Given the description of an element on the screen output the (x, y) to click on. 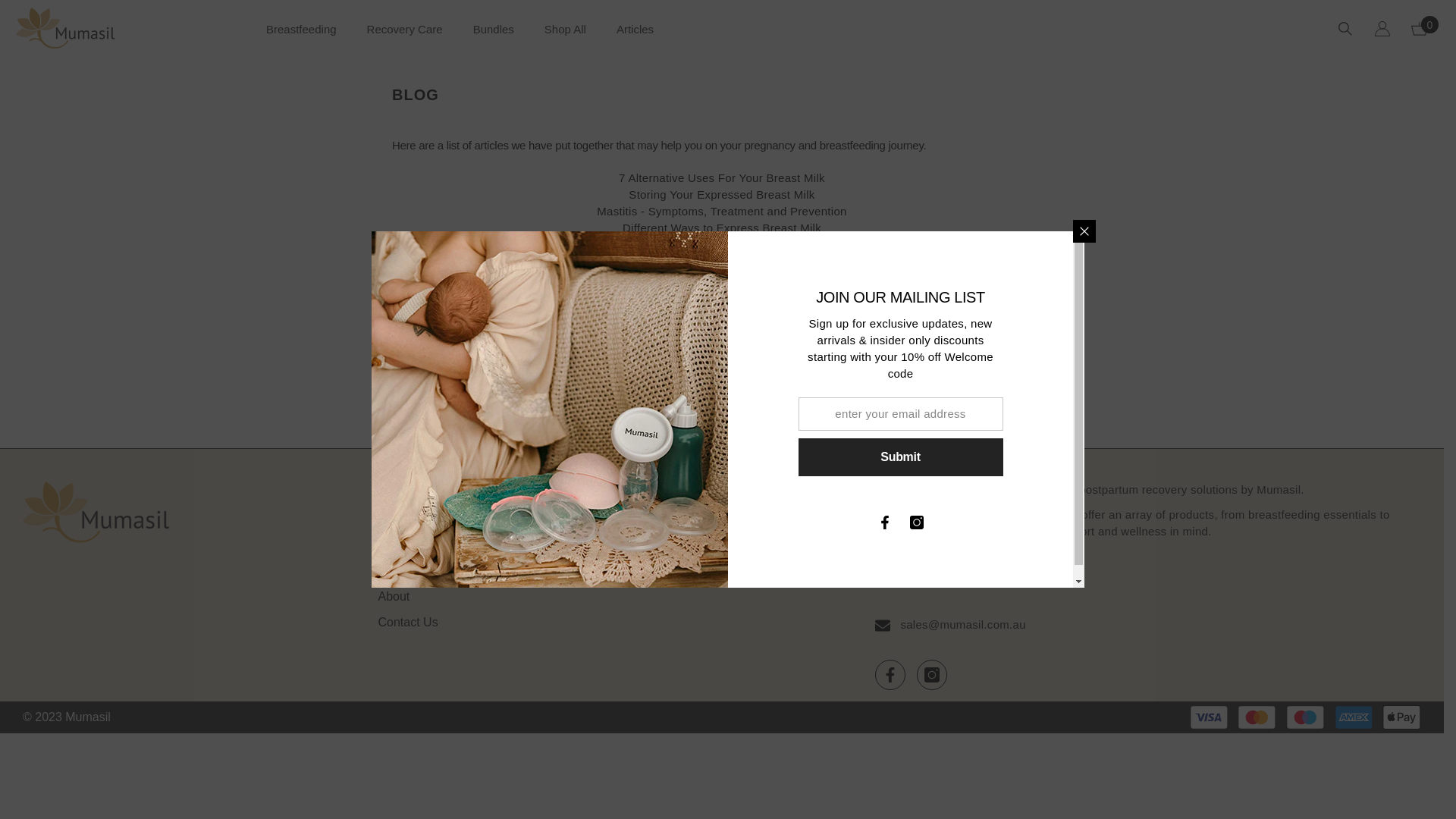
Breastfeeding Element type: text (301, 39)
About Element type: text (393, 596)
Instagram Element type: text (931, 674)
Recovery Care Element type: text (404, 39)
Wholesale Element type: text (405, 570)
Facebook Element type: text (890, 674)
Bundles Element type: text (493, 39)
Terms Of Service Element type: text (637, 570)
Sore and Cracked Nipples Element type: text (721, 260)
Mastitis - Symptoms, Treatment and Prevention Element type: text (721, 210)
Engorgement Element type: text (719, 277)
Refund Policy Element type: text (628, 519)
Storing Your Expressed Breast Milk Element type: text (721, 194)
Contact Us Element type: text (407, 622)
Shipping Element type: text (400, 545)
Privacy Policy Element type: text (629, 545)
Submit Element type: text (899, 457)
7 Alternative Uses For Your Breast Milk Element type: text (721, 177)
Packing your Hospital Bag Element type: text (721, 294)
Shop All Element type: text (565, 39)
Different Ways to Express Breast Milk Element type: text (721, 227)
Articles Element type: text (634, 39)
Search Element type: text (396, 519)
Cart
0
0 items Element type: text (1419, 27)
Plugged Ducts Element type: text (721, 244)
Facebook Element type: text (884, 522)
Log in Element type: text (1382, 28)
Instagram Element type: text (916, 522)
